Given the description of an element on the screen output the (x, y) to click on. 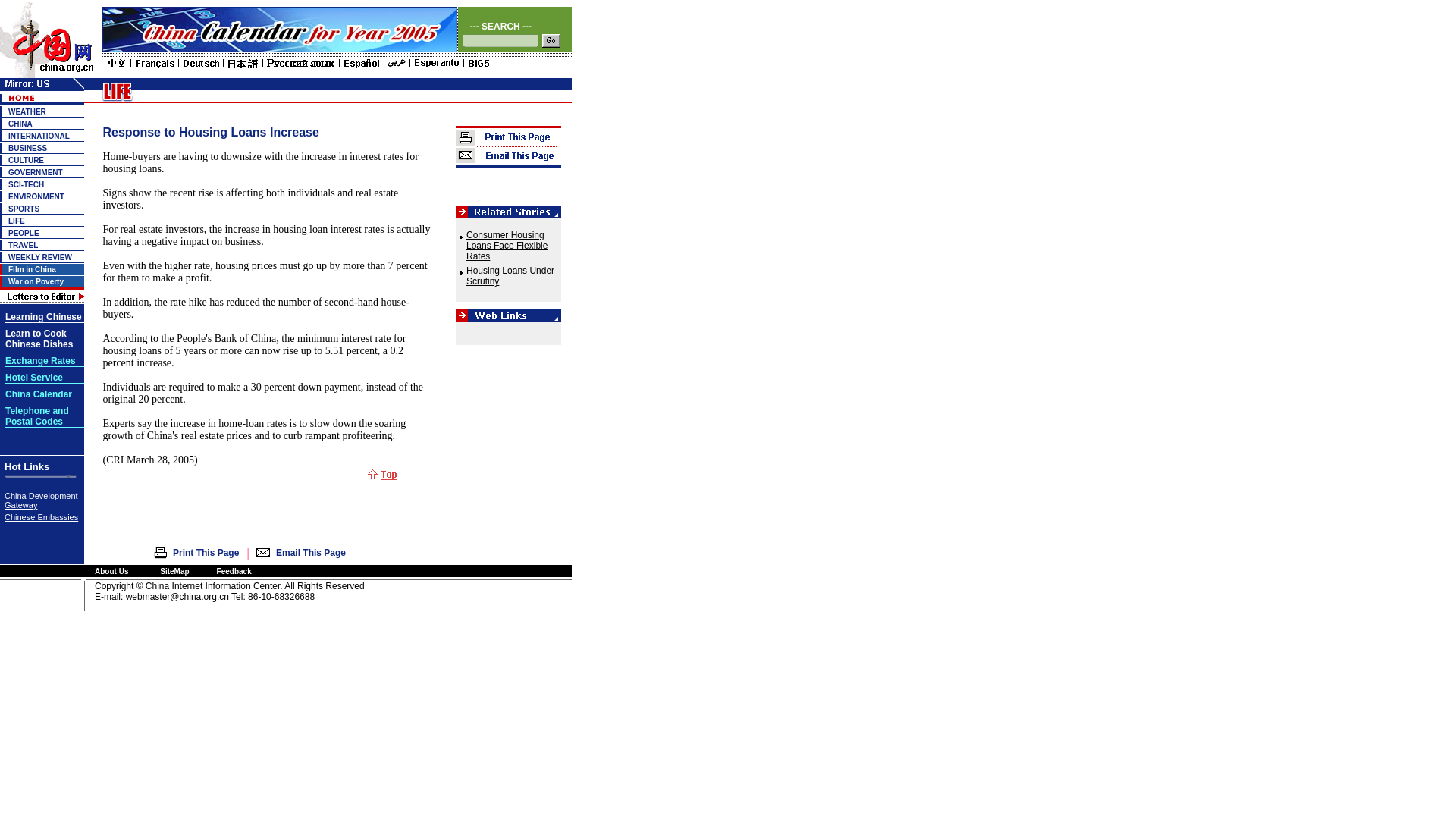
Film in China (32, 269)
Consumer Housing Loans Face Flexible Rates (506, 245)
Chinese Embassies (41, 516)
TRAVEL (22, 244)
Feedback (36, 415)
Learn to Cook Chinese Dishes (233, 571)
SPORTS (38, 339)
WEATHER (23, 208)
CHINA (27, 111)
CULTURE (20, 123)
War on Poverty (25, 160)
WEEKLY REVIEW (36, 281)
BUSINESS (39, 257)
About Us (27, 148)
